Given the description of an element on the screen output the (x, y) to click on. 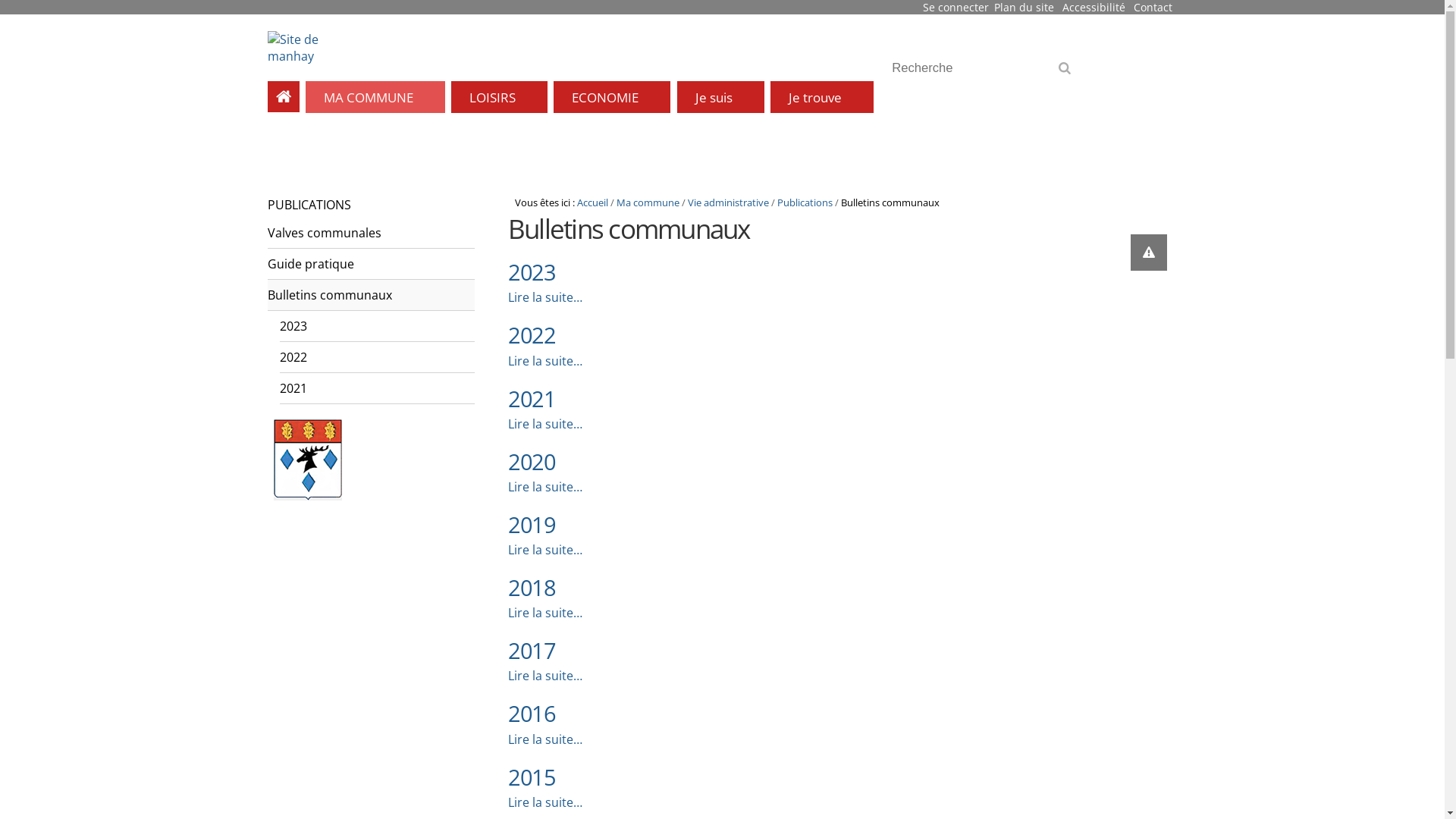
Site de manhay Element type: hover (294, 47)
2022 Element type: text (376, 357)
Publications Element type: text (804, 202)
2017 Element type: text (531, 650)
2015 Element type: text (531, 776)
2023 Element type: text (531, 271)
Plan du site Element type: text (1024, 7)
2019 Element type: text (531, 524)
Ma commune Element type: text (647, 202)
Recherche Element type: hover (985, 67)
LOISIRS Element type: text (499, 96)
Accueil Element type: text (592, 202)
Je suis Element type: text (720, 96)
Se connecter Element type: text (955, 7)
2022 Element type: text (531, 334)
Vie administrative Element type: text (727, 202)
Bulletins communaux Element type: text (369, 294)
Contact Element type: text (1152, 7)
2018 Element type: text (531, 587)
ECONOMIE Element type: text (611, 96)
2020 Element type: text (531, 461)
Rechercher Element type: text (1068, 72)
Valves communales Element type: text (369, 232)
Je trouve Element type: text (821, 96)
2021 Element type: text (376, 388)
2016 Element type: text (531, 713)
2021 Element type: text (531, 398)
MA COMMUNE Element type: text (375, 96)
2023 Element type: text (376, 326)
Guide pratique Element type: text (369, 263)
PUBLICATIONS Element type: text (363, 204)
